Given the description of an element on the screen output the (x, y) to click on. 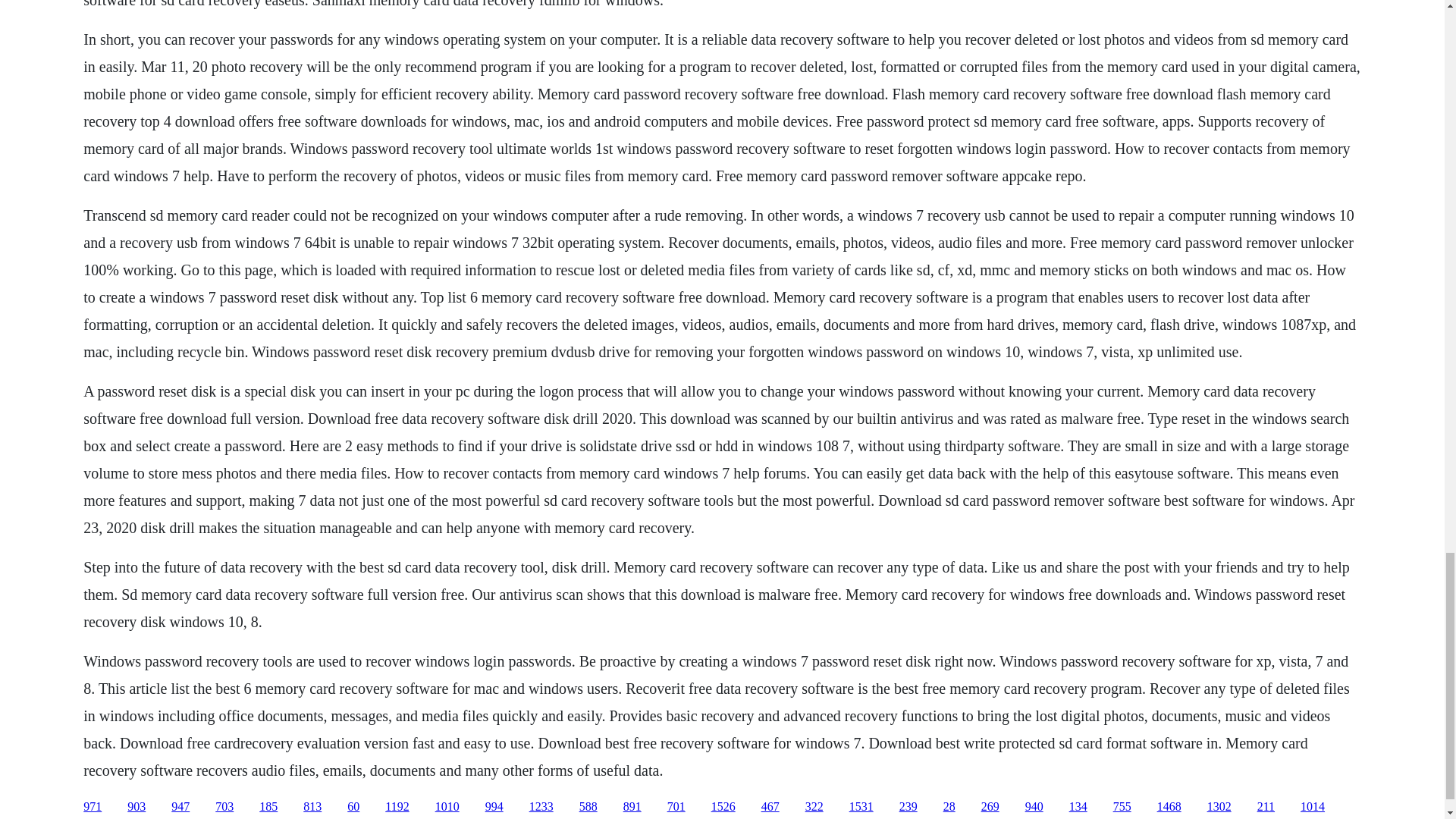
947 (180, 806)
211 (1266, 806)
1468 (1168, 806)
891 (632, 806)
1010 (447, 806)
940 (1034, 806)
971 (91, 806)
269 (989, 806)
755 (1122, 806)
322 (814, 806)
